Given the description of an element on the screen output the (x, y) to click on. 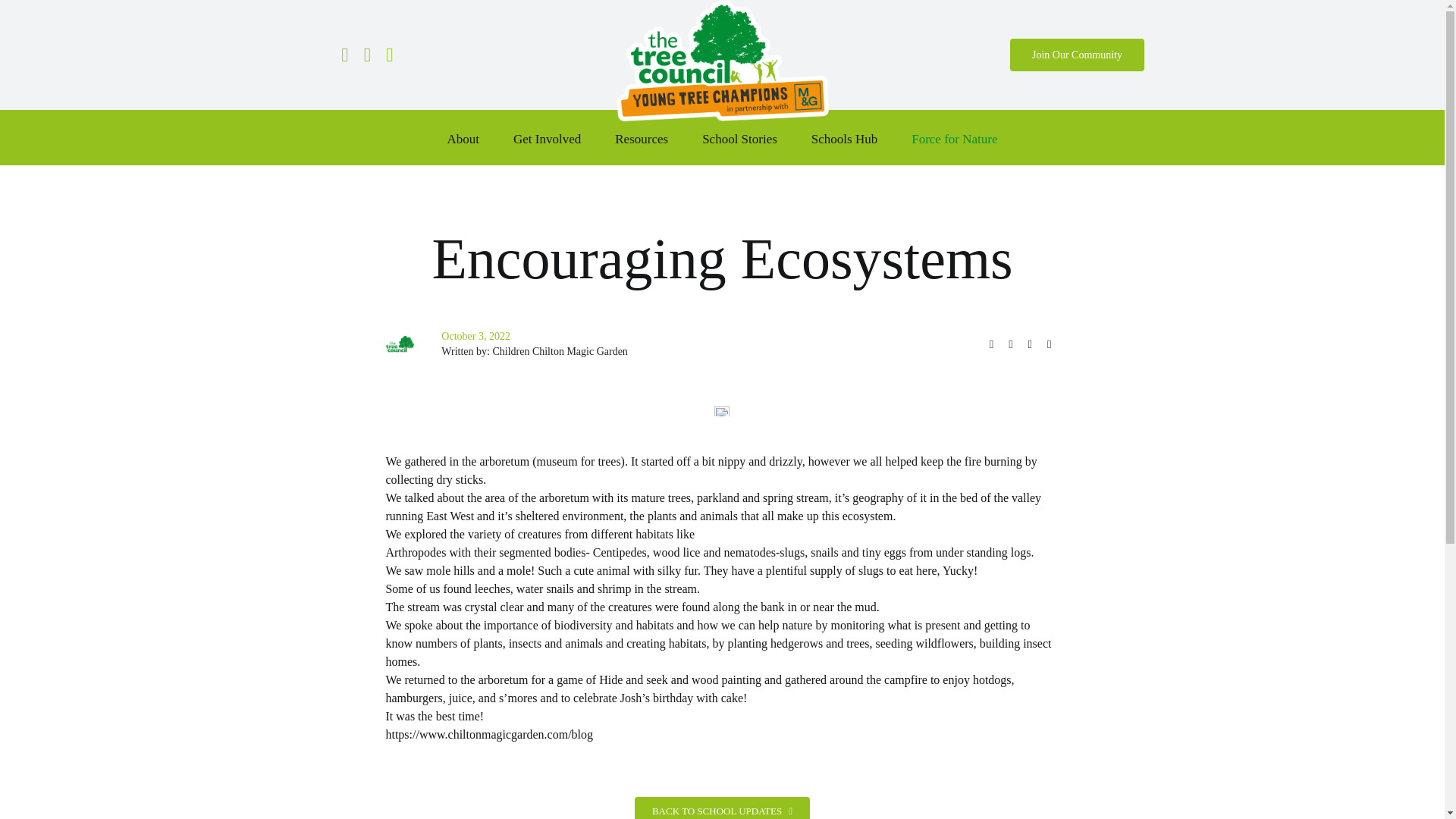
BACK TO SCHOOL UPDATES (721, 807)
Join Our Community (1077, 54)
School Stories (739, 139)
About (463, 139)
The Tree Council master logo 72dpi no strap (399, 343)
Get Involved (546, 139)
WhatsApp (1048, 343)
X (1010, 343)
Facebook (991, 343)
LinkedIn (1029, 343)
